Given the description of an element on the screen output the (x, y) to click on. 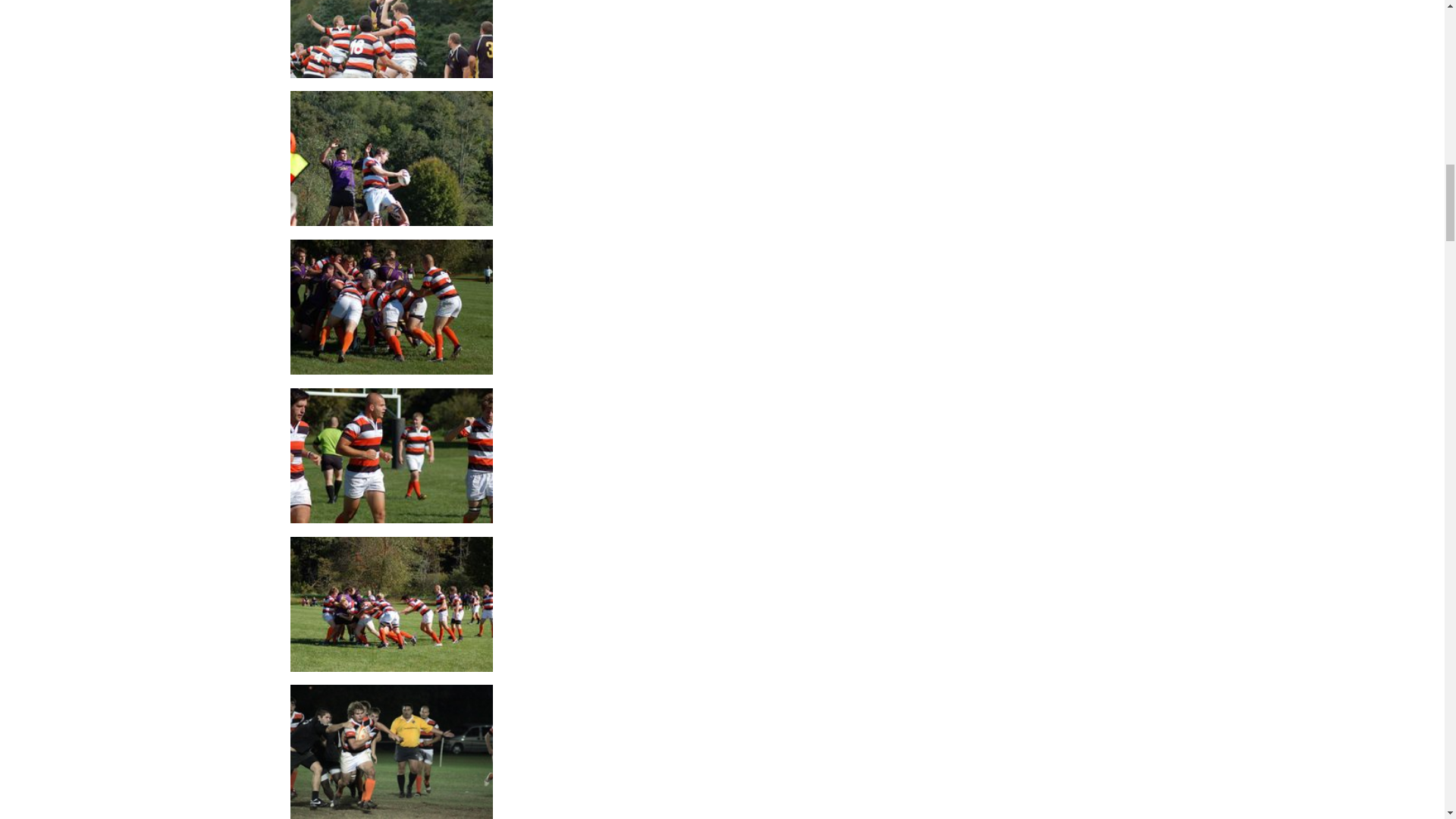
Image 1 (391, 454)
Image 1 (391, 750)
Image 1 (391, 9)
Image 1 (391, 305)
Image 1 (391, 603)
Image 1 (391, 156)
